Given the description of an element on the screen output the (x, y) to click on. 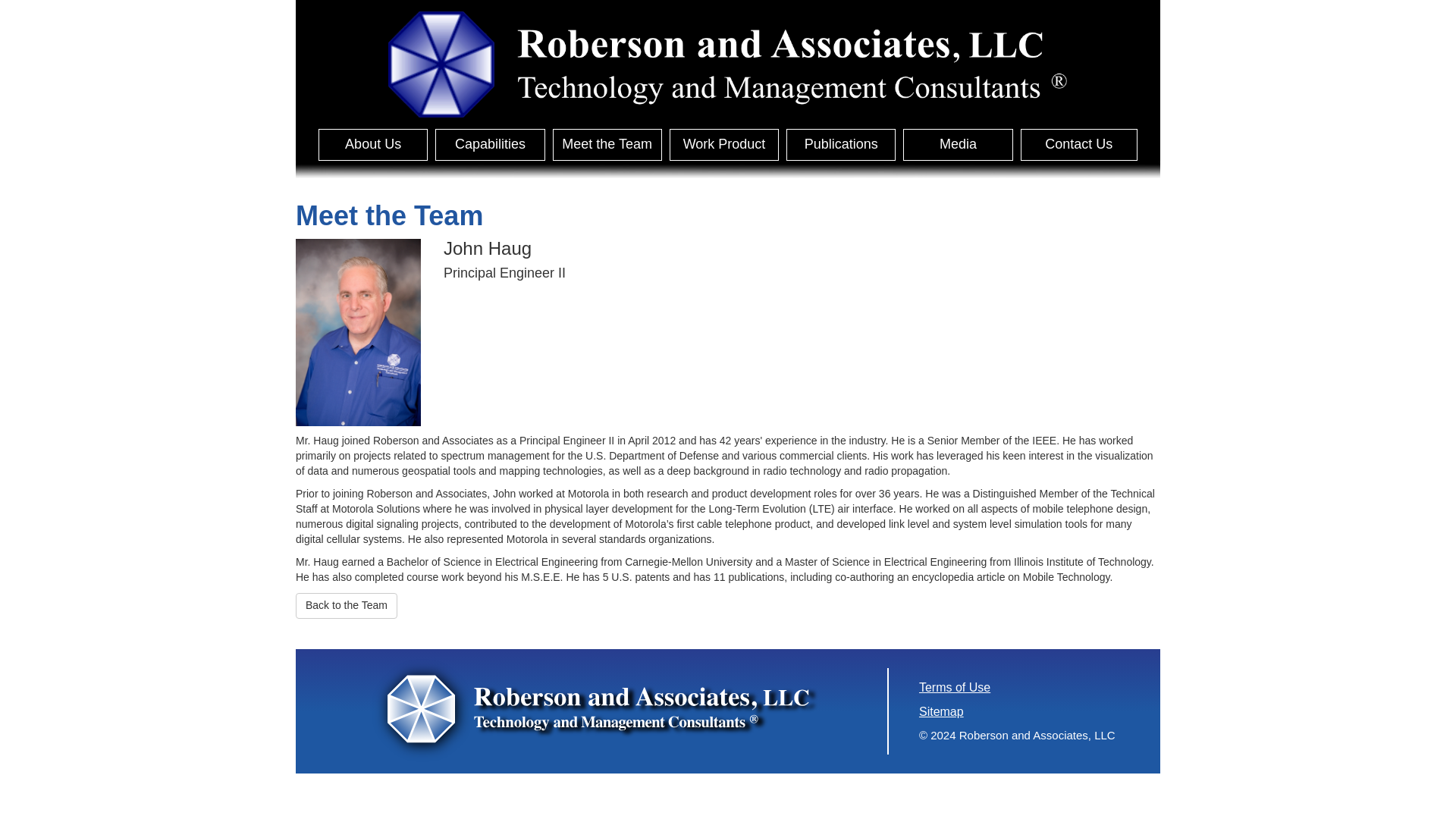
Sitemap (940, 711)
Terms of Use (954, 686)
Meet the Team (607, 144)
Capabilities (489, 144)
Work Product (723, 144)
Back to the Team (346, 605)
About Us (373, 144)
Publications (840, 144)
Contact Us (1078, 144)
Media (956, 144)
